Given the description of an element on the screen output the (x, y) to click on. 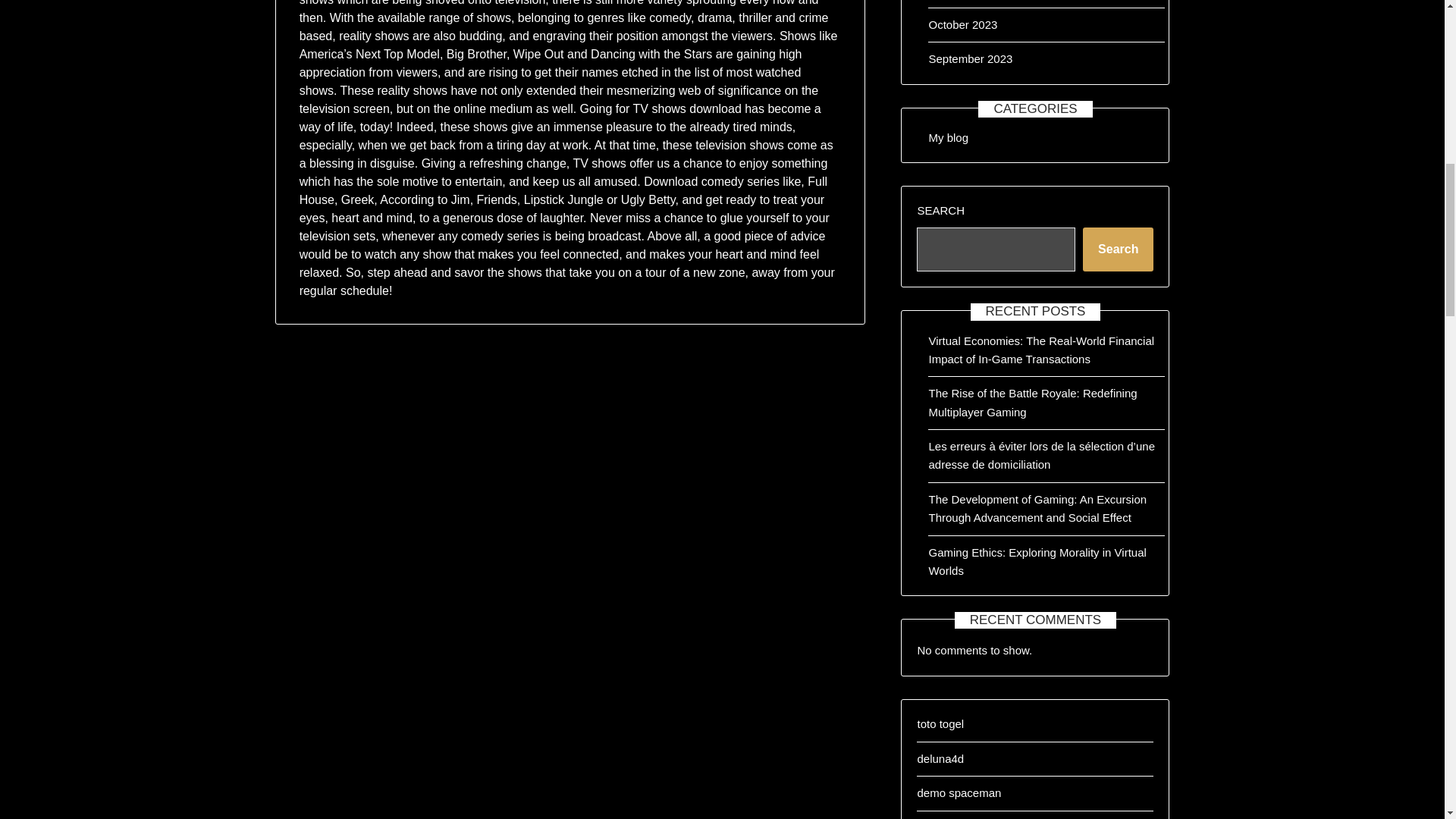
Search (1118, 249)
My blog (948, 137)
October 2023 (962, 24)
The Rise of the Battle Royale: Redefining Multiplayer Gaming (1032, 401)
deluna4d (940, 758)
September 2023 (969, 58)
demo spaceman (959, 792)
toto togel (940, 723)
Gaming Ethics: Exploring Morality in Virtual Worlds (1036, 561)
